Given the description of an element on the screen output the (x, y) to click on. 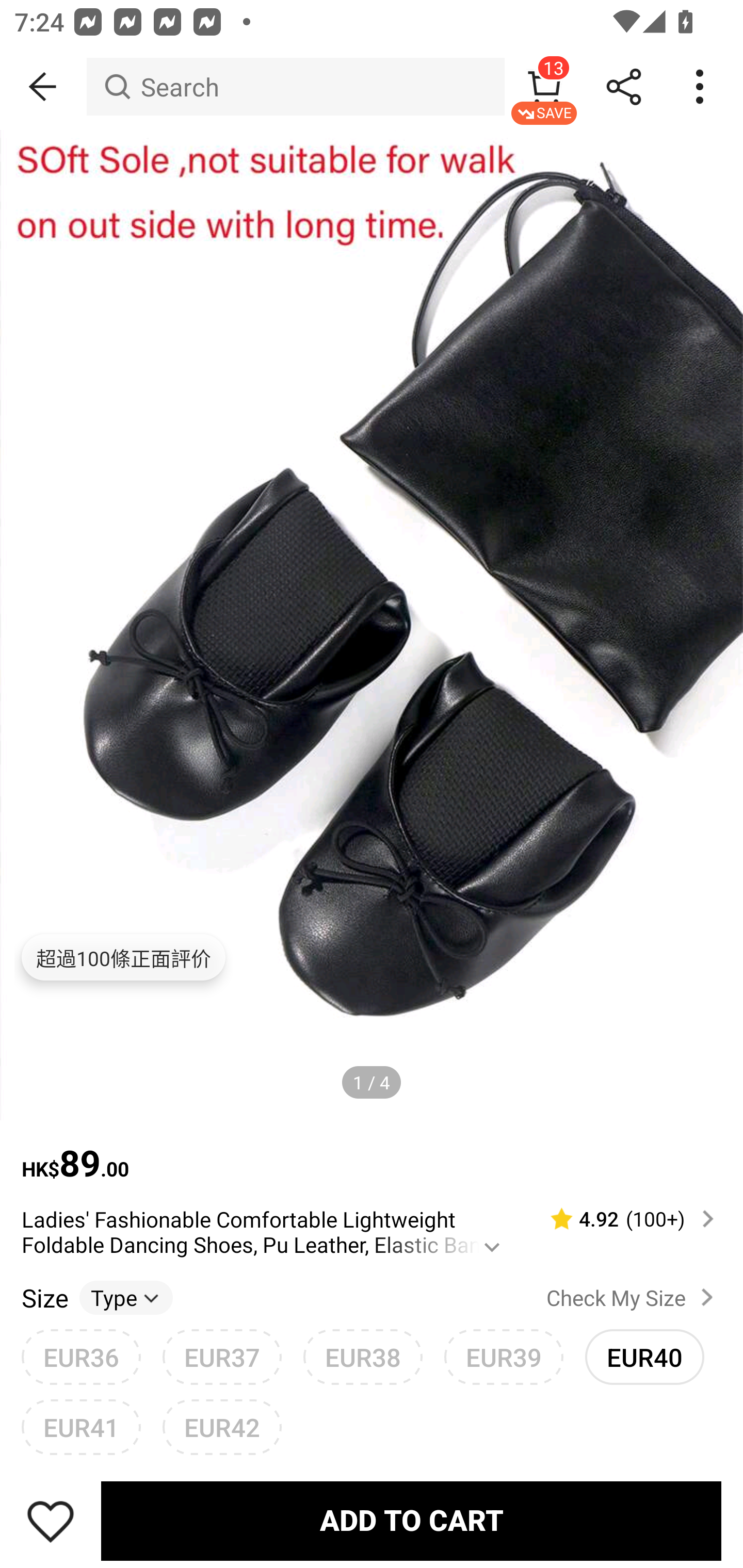
BACK (43, 86)
13 SAVE (543, 87)
Search (295, 87)
1 / 4 (371, 1082)
HK$89.00 (371, 1152)
4.92 (100‎+) (623, 1219)
Size (44, 1297)
Type (126, 1297)
Check My Size (633, 1297)
EUR36 EUR38 (81, 1356)
EUR37 EUR39 (221, 1356)
EUR38 EUR40 (362, 1356)
EUR39 EUR41 (503, 1356)
EUR40 EUR42unselected option (644, 1356)
EUR41 (81, 1426)
EUR42 (221, 1426)
ADD TO CART (411, 1520)
Save (50, 1520)
